Given the description of an element on the screen output the (x, y) to click on. 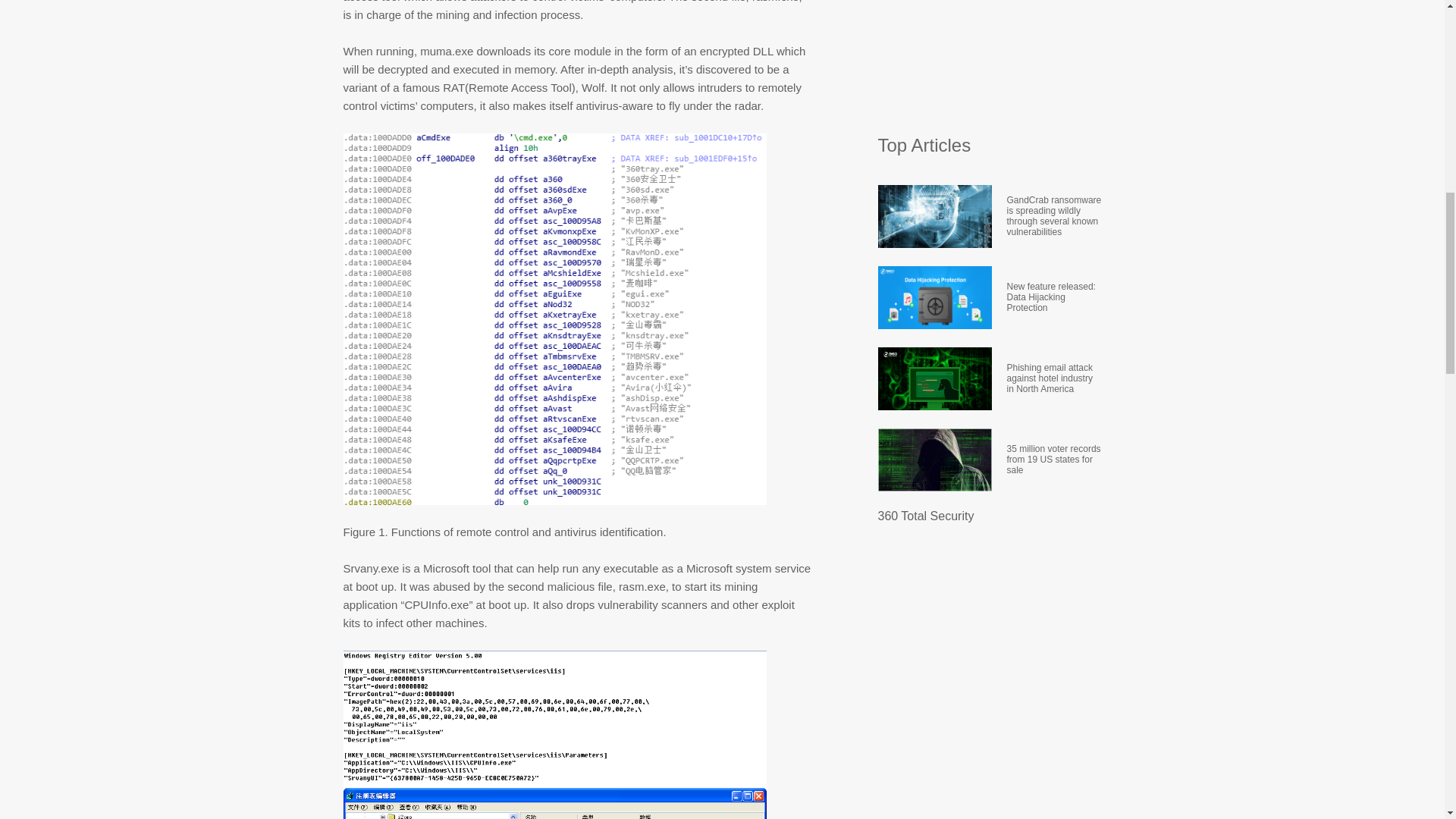
New feature released: Data Hijacking Protection (1054, 296)
35 million voter records from 19 US states for sale (1054, 458)
35 million voter records from 19 US states for sale (1054, 458)
360 Total Security (925, 515)
New feature released: Data Hijacking Protection (1054, 296)
